Given the description of an element on the screen output the (x, y) to click on. 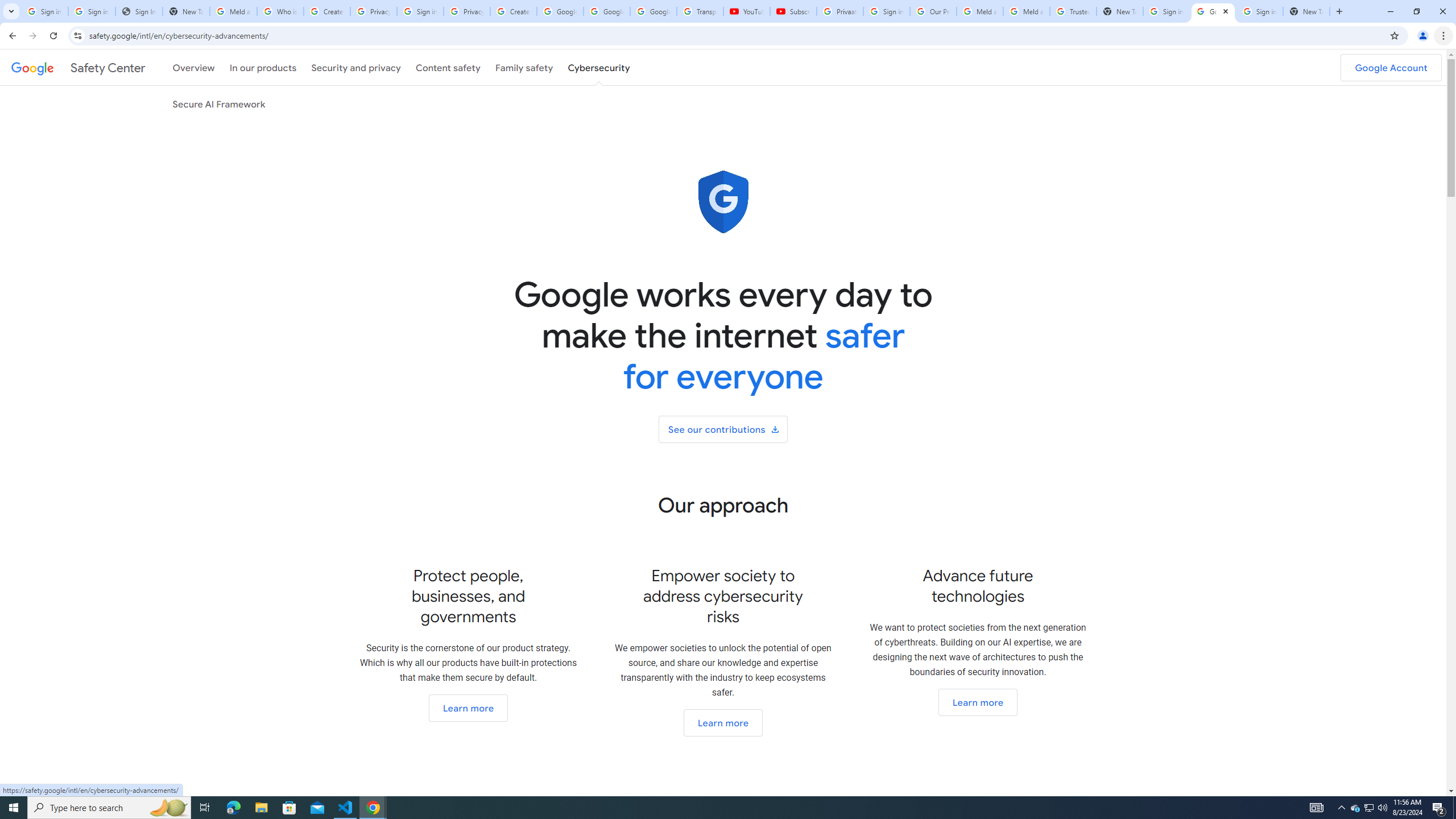
Sign in - Google Accounts (91, 11)
Sign in - Google Accounts (419, 11)
Secure AI Framework (218, 103)
Security and privacy (356, 67)
Sign in - Google Accounts (1166, 11)
Go to our Safety section (468, 707)
Go to our cybersecurity section (977, 701)
Content safety (447, 67)
Go to our open ecosystem section (722, 722)
